Given the description of an element on the screen output the (x, y) to click on. 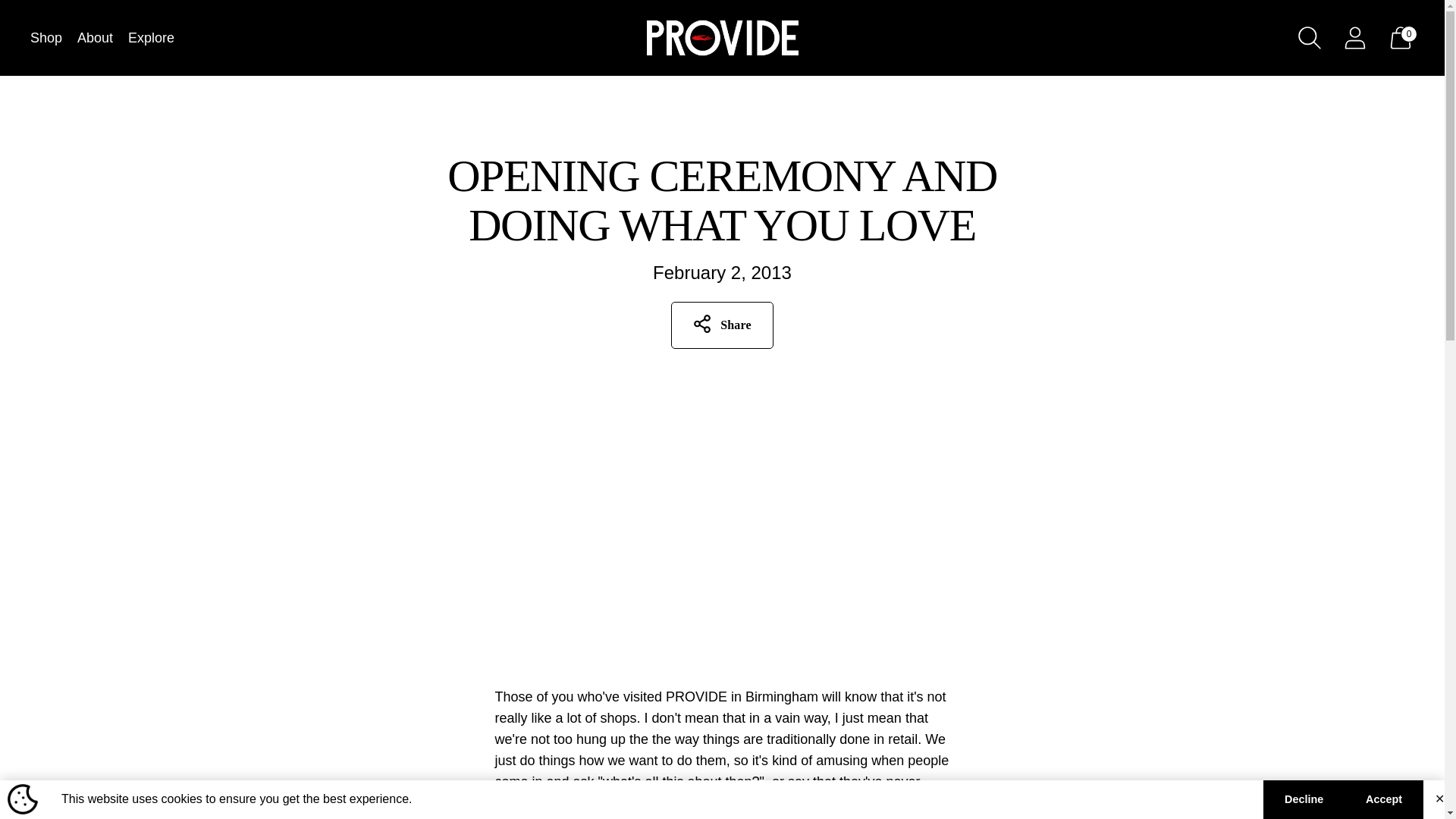
Decline (1303, 799)
0 (1400, 37)
Explore (151, 37)
Accept (1383, 799)
About (95, 37)
Shop (46, 37)
